Given the description of an element on the screen output the (x, y) to click on. 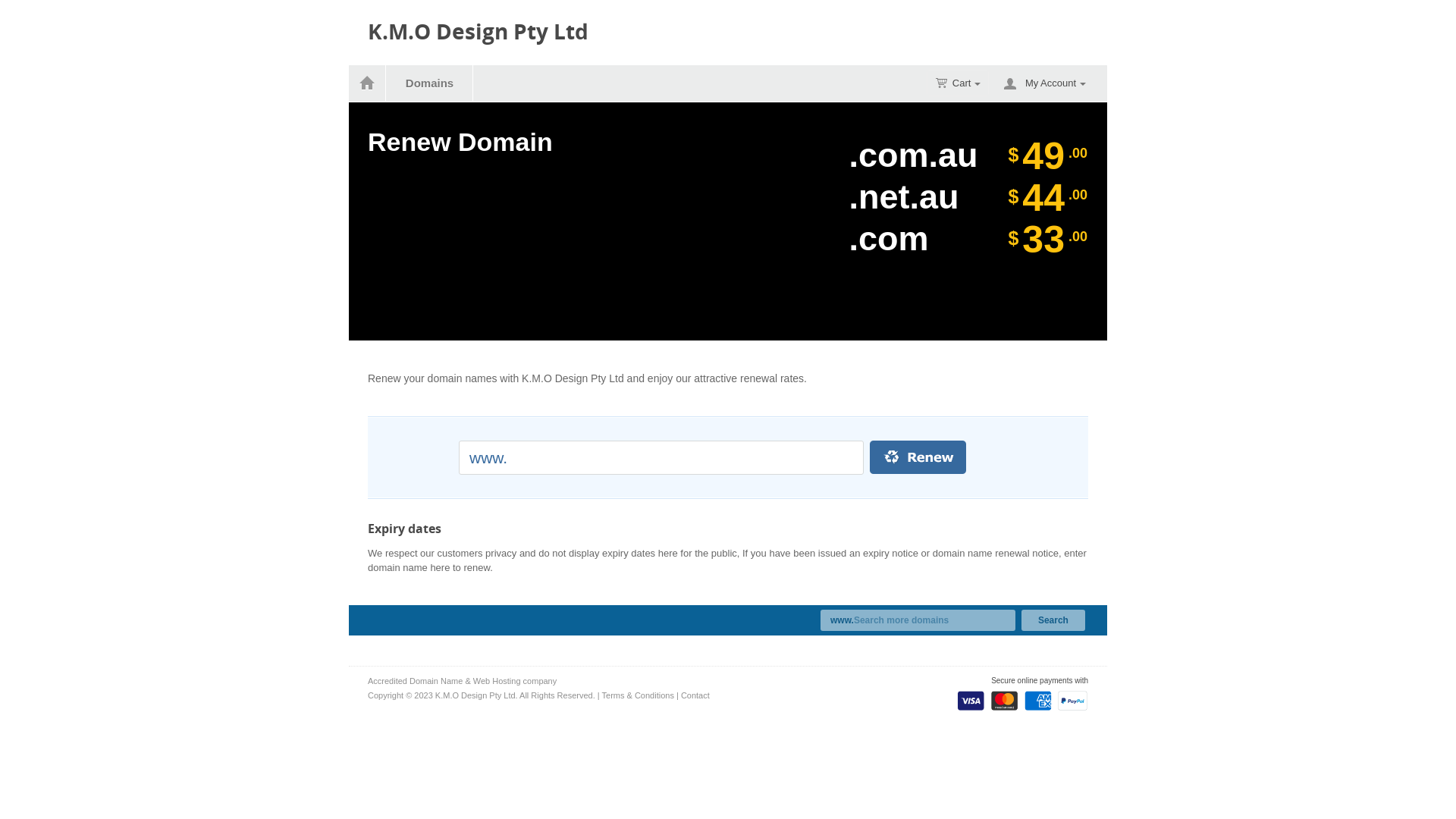
Cart Element type: text (957, 82)
Domains Element type: text (429, 83)
Contact Element type: text (694, 694)
Renew Element type: text (928, 456)
My Account Element type: text (1055, 83)
Search Element type: text (1053, 619)
Home Element type: text (366, 83)
K.M.O Design Pty Ltd Element type: text (477, 31)
Terms & Conditions Element type: text (638, 694)
